Given the description of an element on the screen output the (x, y) to click on. 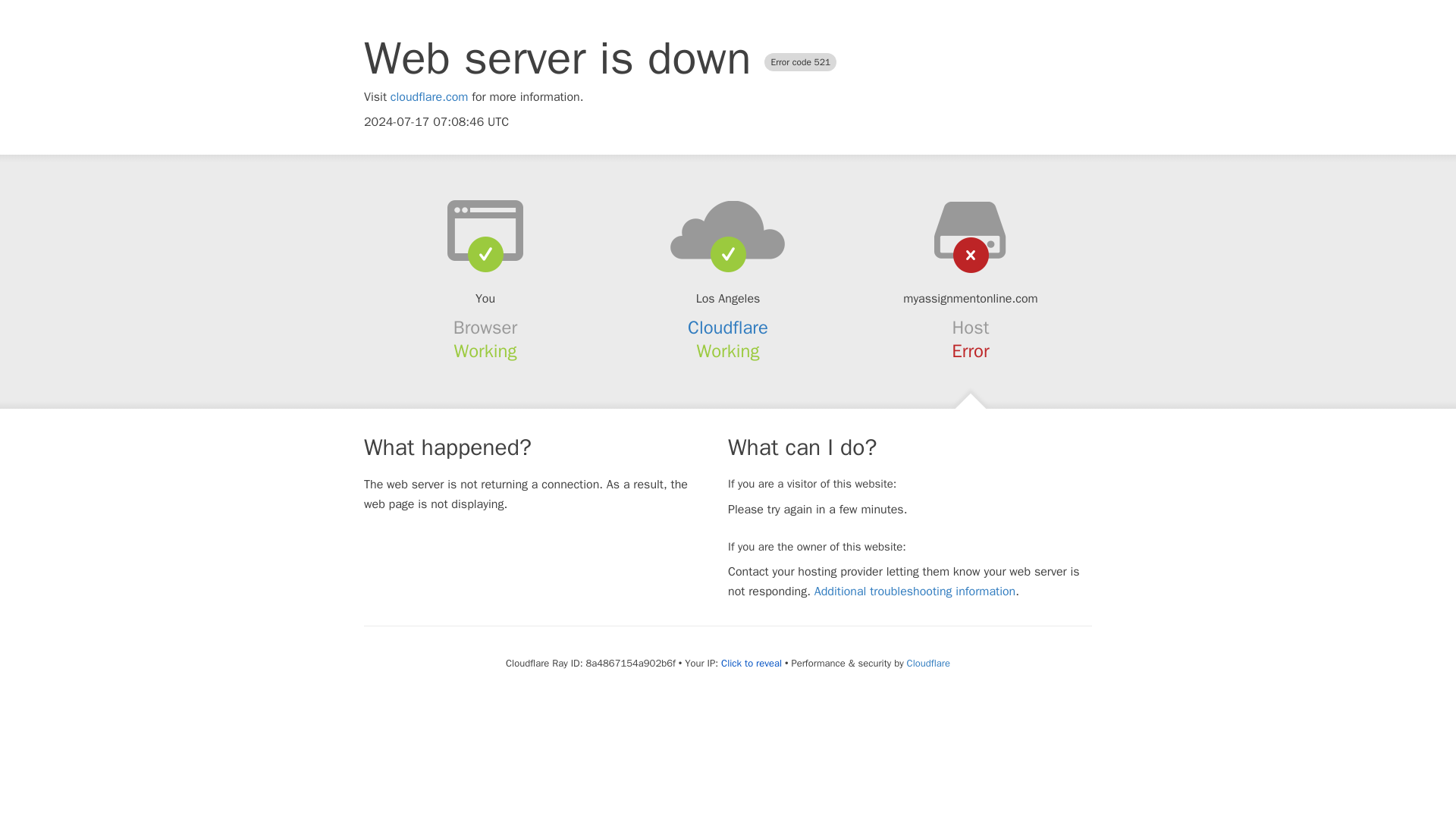
cloudflare.com (429, 96)
Click to reveal (750, 663)
Additional troubleshooting information (913, 590)
Cloudflare (928, 662)
Cloudflare (727, 327)
